Given the description of an element on the screen output the (x, y) to click on. 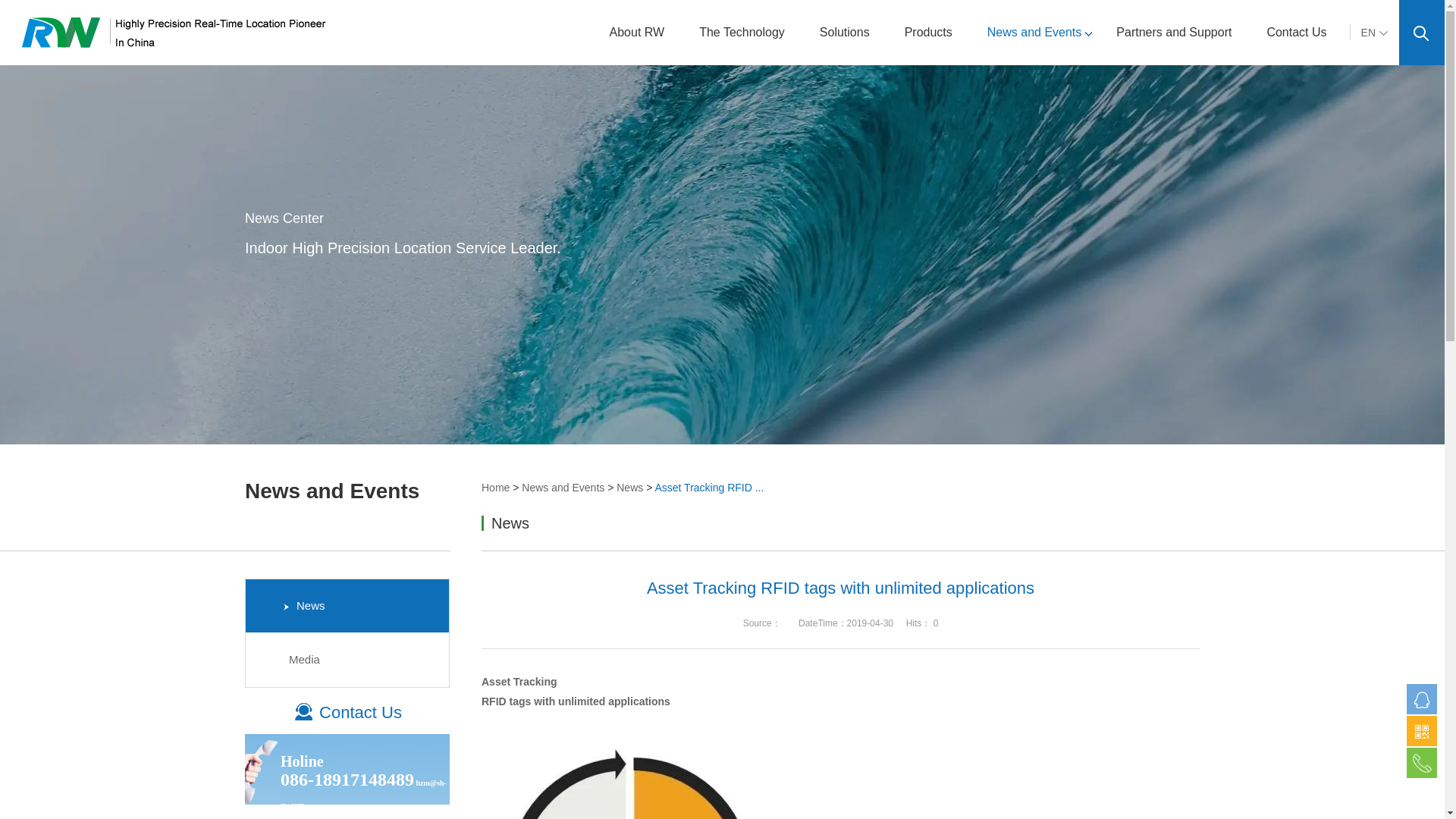
Products (933, 32)
The Technology (746, 32)
About RW (642, 32)
EN (1374, 32)
Solutions (849, 32)
